Given the description of an element on the screen output the (x, y) to click on. 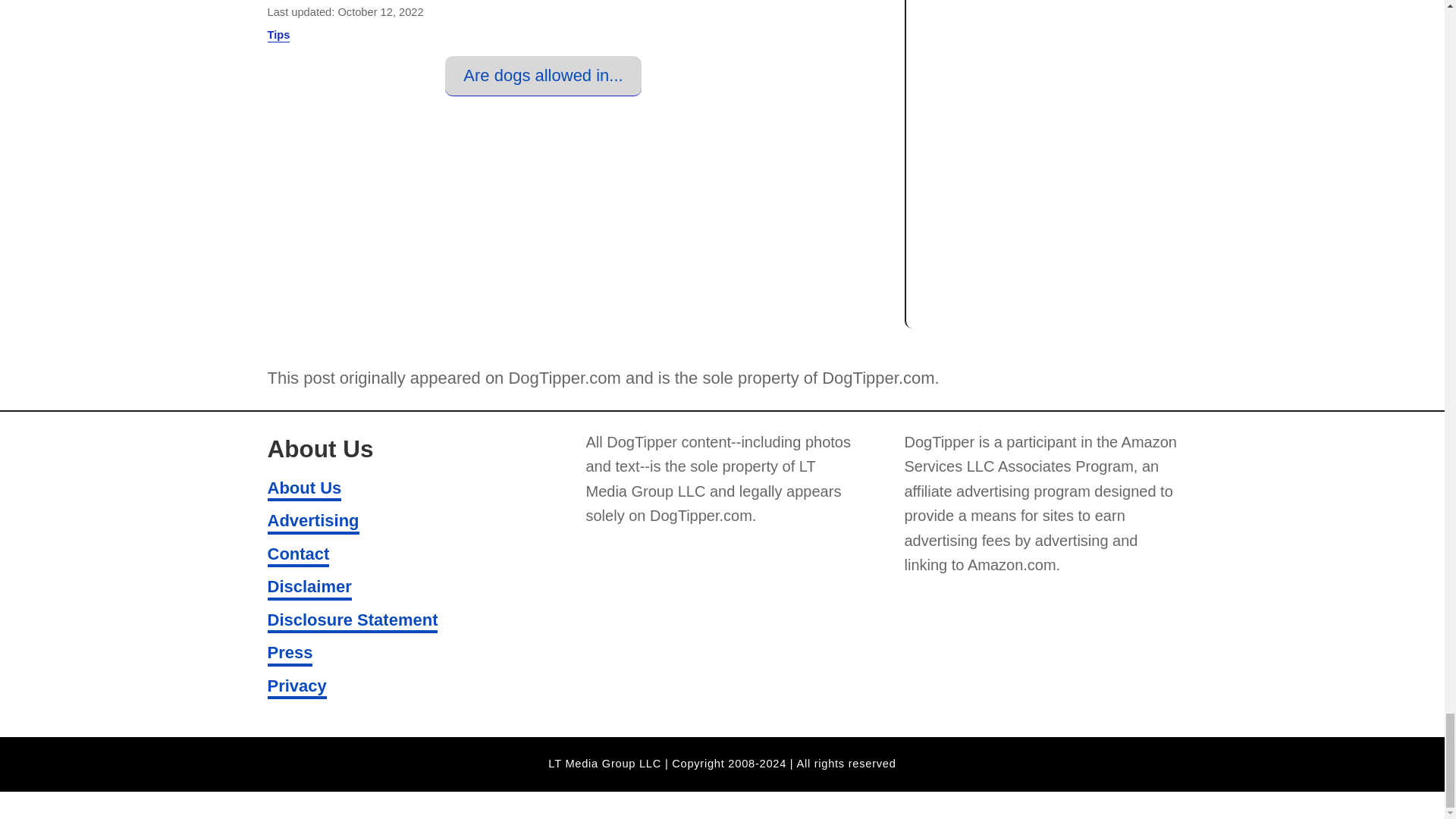
Tips (277, 35)
Are dogs allowed in... (542, 76)
